Given the description of an element on the screen output the (x, y) to click on. 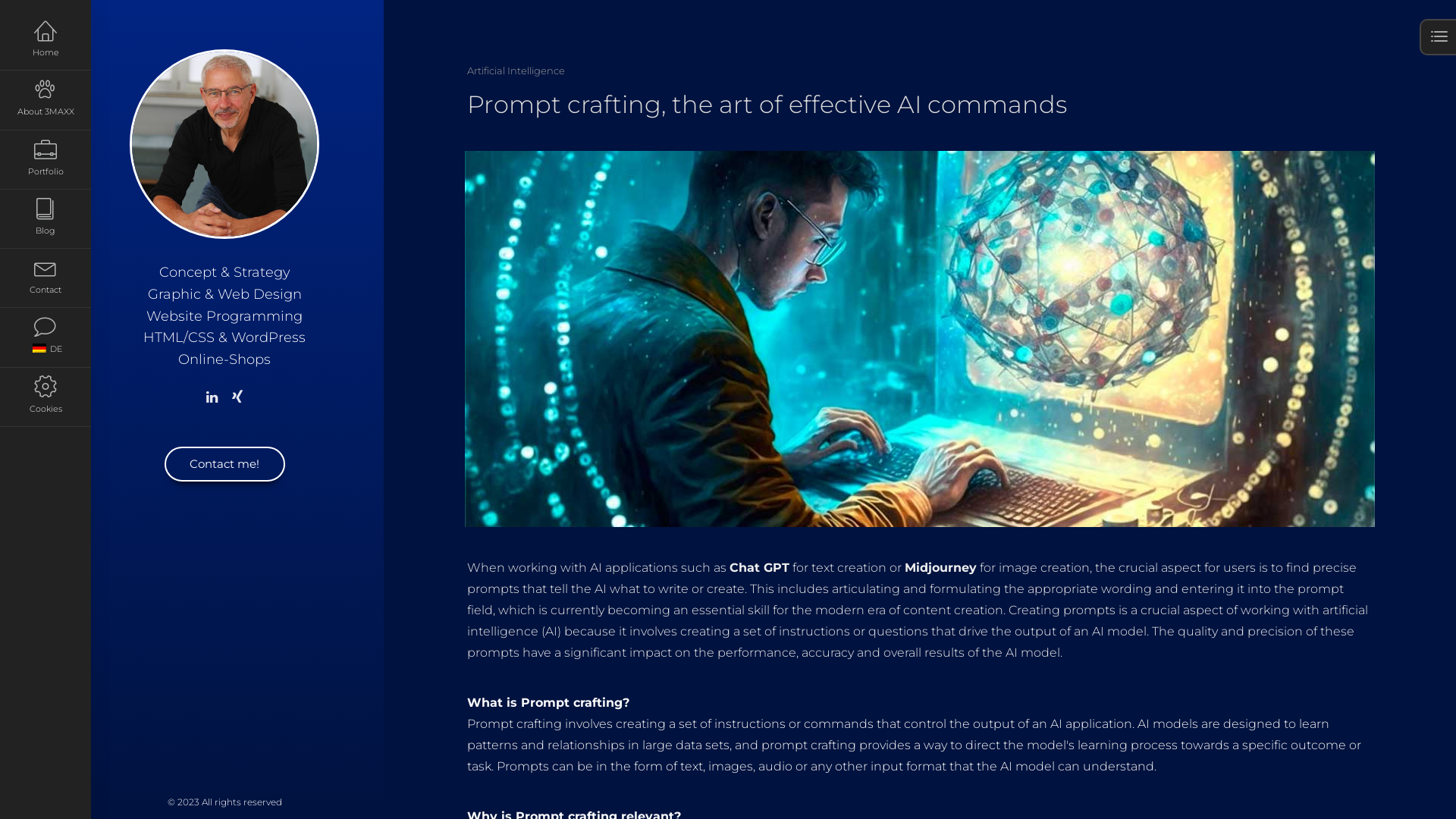
Home Element type: text (45, 40)
DE Element type: text (45, 337)
Blog Element type: text (45, 218)
Artificial Intelligence Element type: text (515, 70)
Contact Element type: text (45, 277)
Deutsch Element type: hover (39, 347)
Cookies Element type: text (45, 396)
Contact me! Element type: text (223, 463)
Portfolio Element type: text (45, 159)
About 3MAXX Element type: text (45, 99)
